Given the description of an element on the screen output the (x, y) to click on. 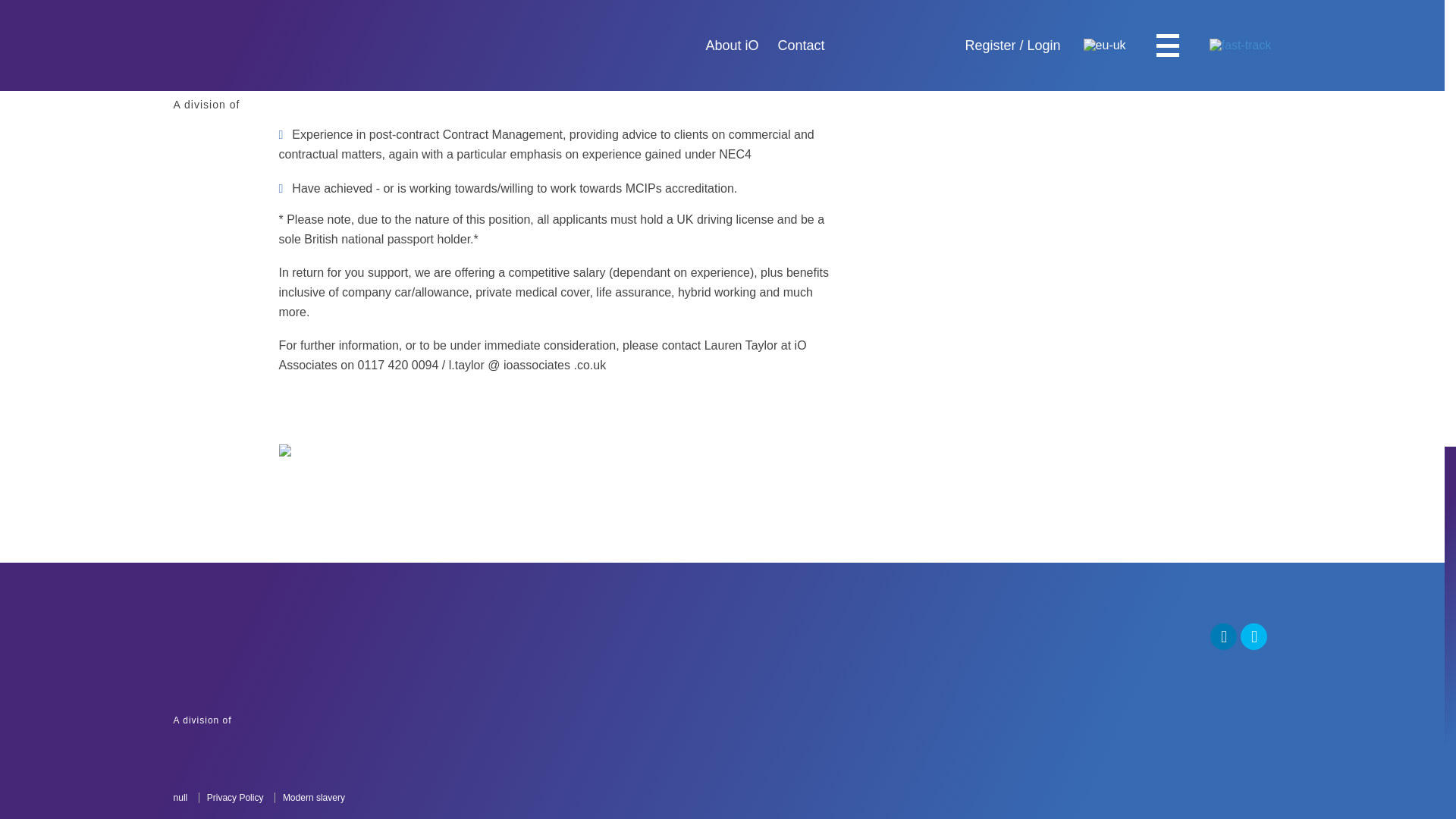
Privacy Policy (283, 719)
Modern slavery (234, 797)
